Given the description of an element on the screen output the (x, y) to click on. 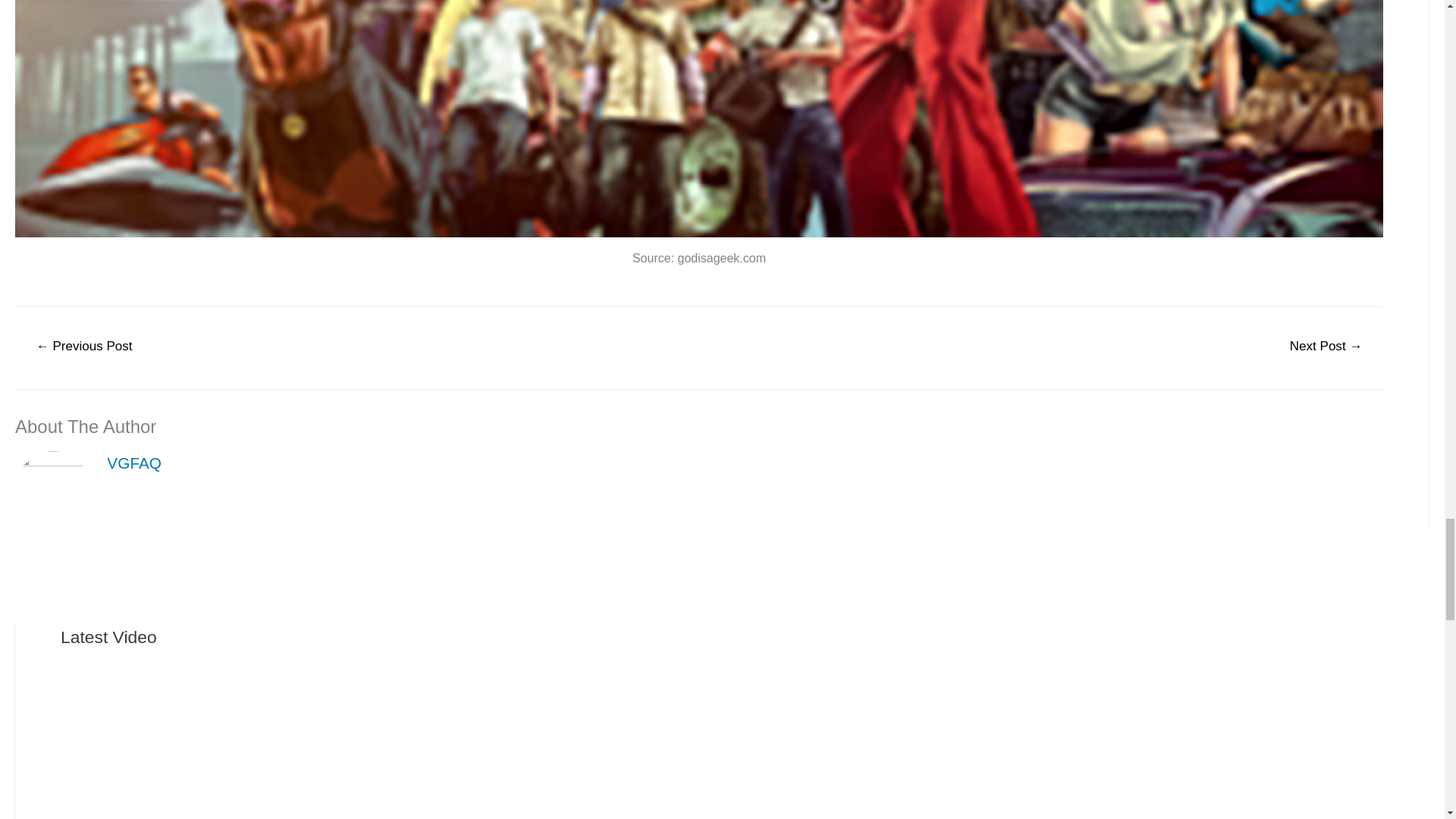
YouTube player (174, 724)
